Given the description of an element on the screen output the (x, y) to click on. 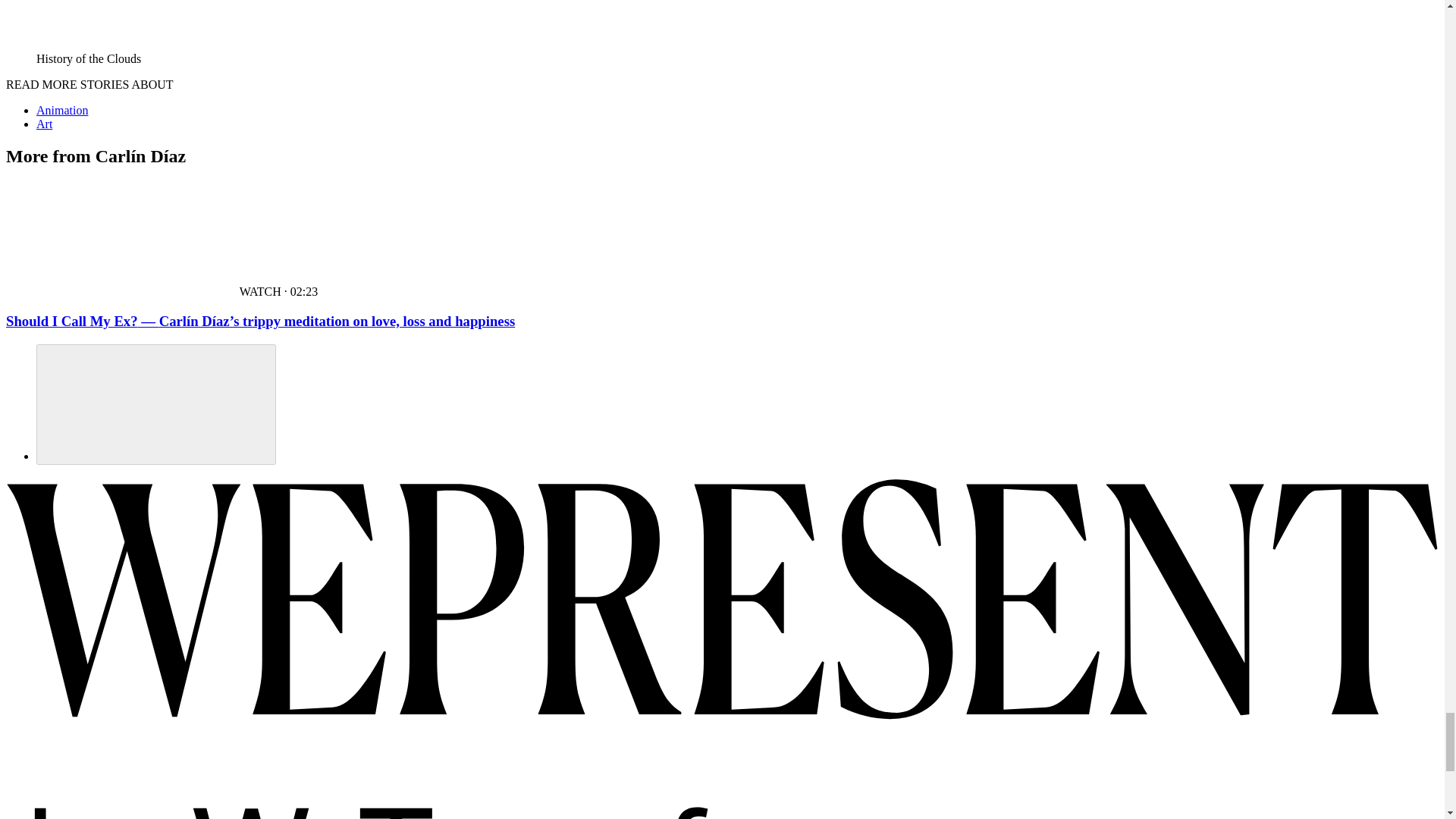
Art (44, 123)
Animation (61, 110)
